Given the description of an element on the screen output the (x, y) to click on. 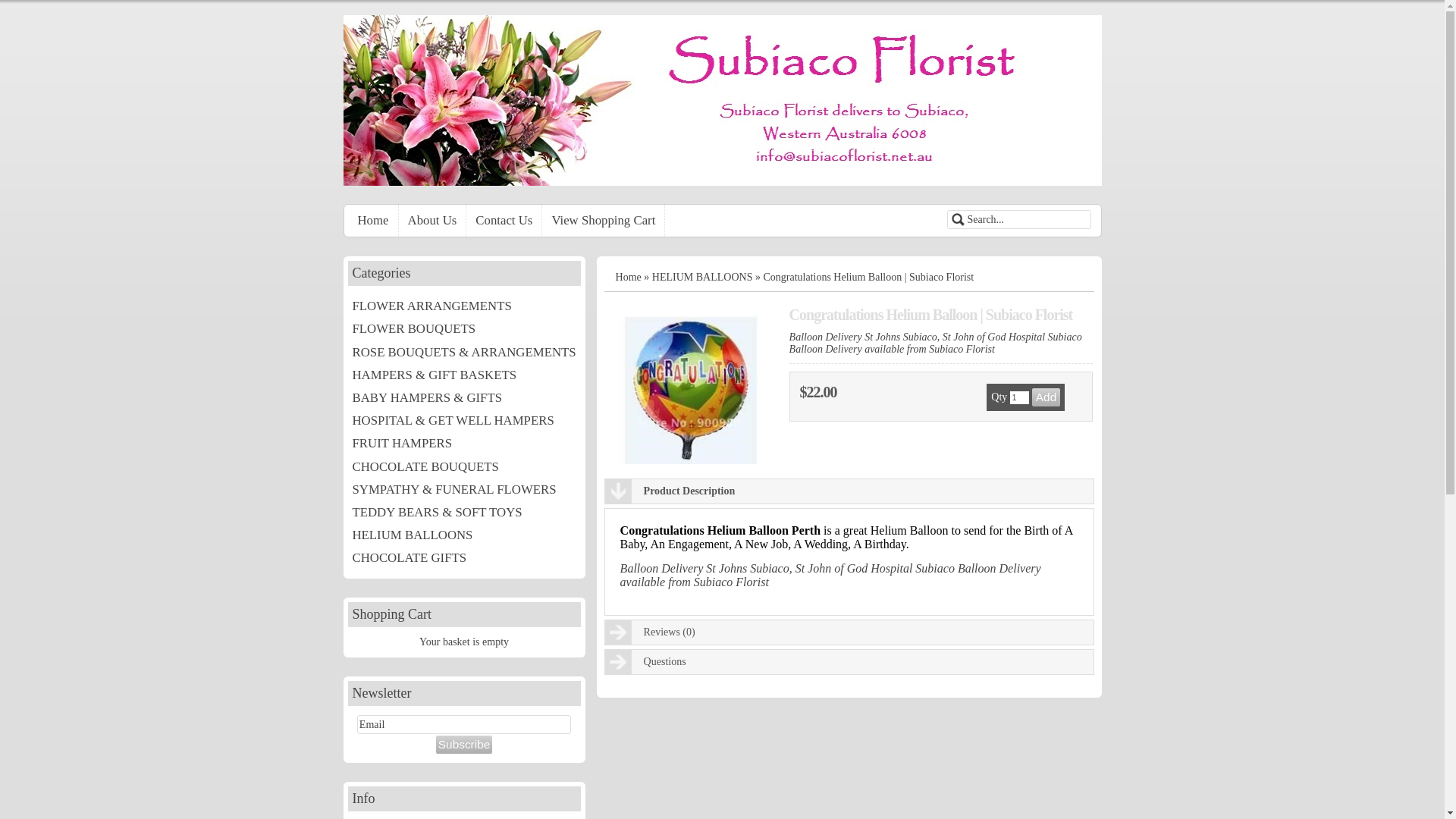
Add Element type: text (1046, 397)
SYMPATHY & FUNERAL FLOWERS Element type: text (463, 489)
BABY HAMPERS & GIFTS Element type: text (463, 397)
TEDDY BEARS & SOFT TOYS Element type: text (463, 512)
Questions Element type: text (849, 661)
Home Element type: text (373, 220)
About Us Element type: text (432, 220)
FLOWER ARRANGEMENTS Element type: text (463, 305)
Contact Us Element type: text (504, 220)
CHOCOLATE BOUQUETS Element type: text (463, 466)
FRUIT HAMPERS Element type: text (463, 443)
Product Description Element type: text (849, 491)
View Shopping Cart Element type: text (603, 220)
HOSPITAL & GET WELL HAMPERS Element type: text (463, 420)
Home Element type: text (628, 276)
HELIUM BALLOONS Element type: text (463, 535)
HAMPERS & GIFT BASKETS Element type: text (463, 375)
HELIUM BALLOONS Element type: text (702, 276)
Reviews (0) Element type: text (849, 632)
FLOWER BOUQUETS Element type: text (463, 328)
CHOCOLATE GIFTS Element type: text (463, 557)
Congratulations Helium Balloon | Subiaco Florist Element type: hover (689, 389)
ROSE BOUQUETS & ARRANGEMENTS Element type: text (463, 352)
